Given the description of an element on the screen output the (x, y) to click on. 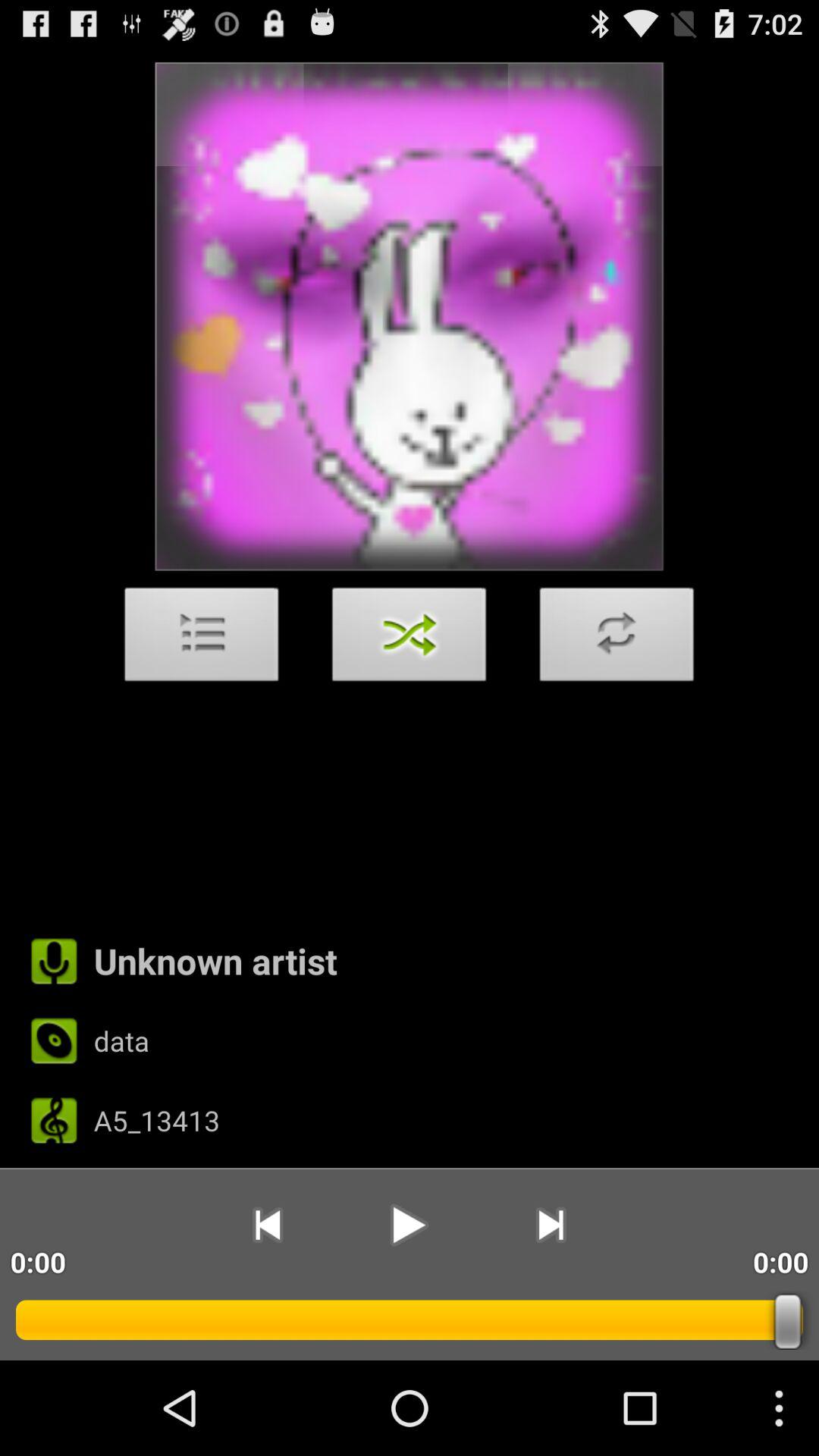
press the item above unknown artist icon (409, 638)
